Given the description of an element on the screen output the (x, y) to click on. 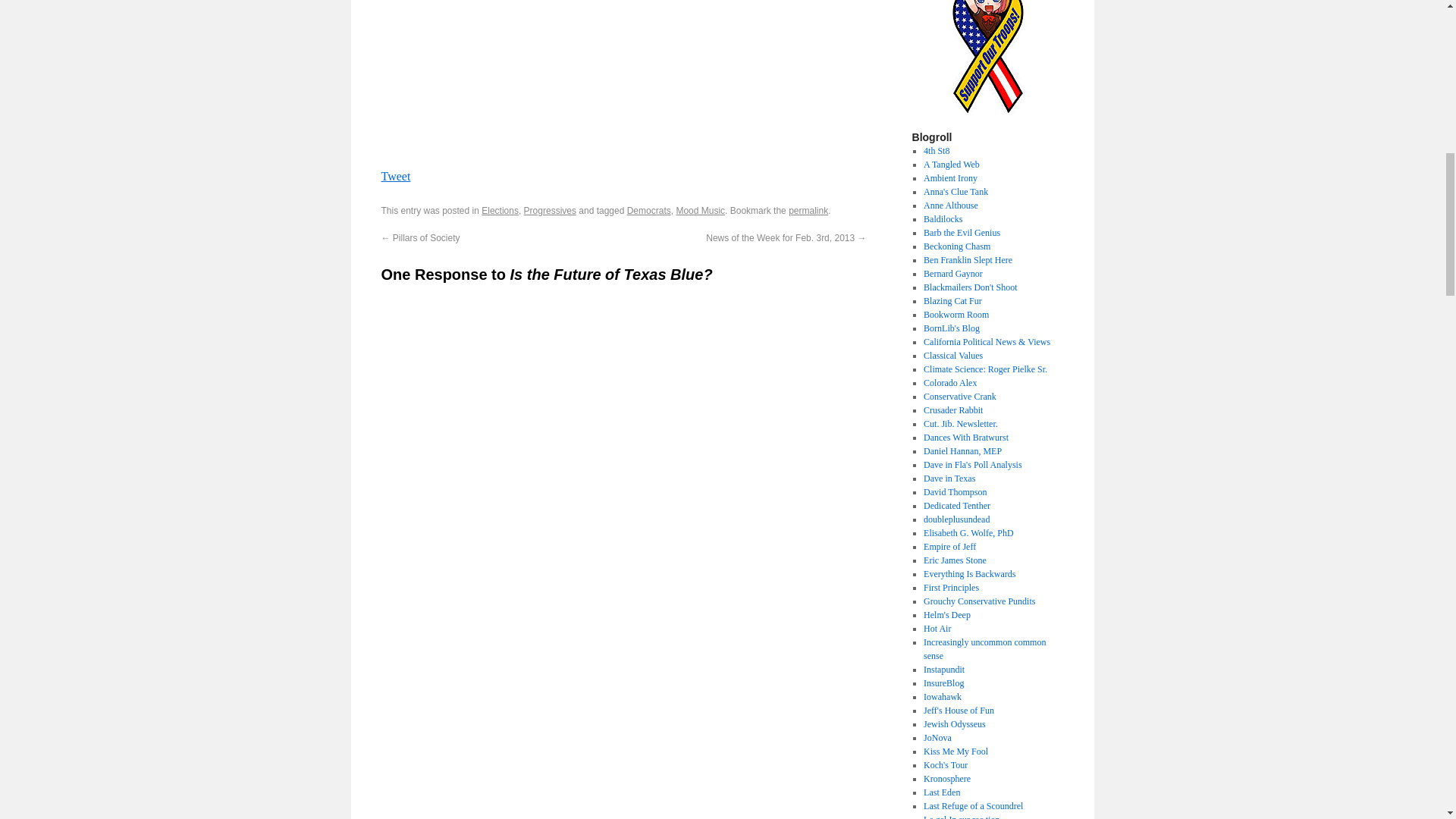
4th St8 (936, 150)
A Tangled Web (951, 163)
Anne Althouse (950, 204)
Member of the Funny Name Club (942, 218)
Ambient Irony (949, 177)
Anne Althouse (950, 204)
permalink (808, 210)
Progressives (550, 210)
Mood Music (700, 210)
Permalink to Is the Future of Texas Blue? (808, 210)
Tweet (395, 175)
Elections (499, 210)
Democrats (649, 210)
Anna's Clue Tank (955, 191)
